Given the description of an element on the screen output the (x, y) to click on. 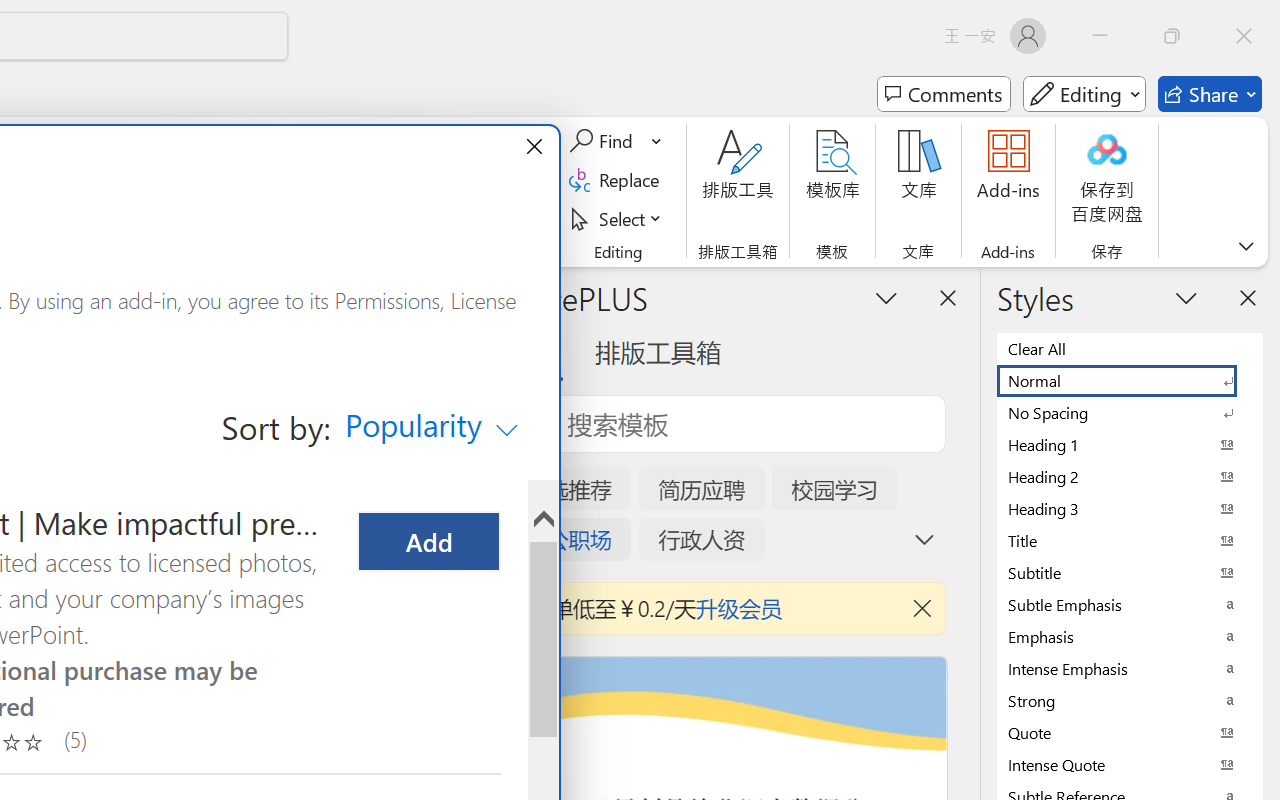
Heading 1 (1130, 444)
No Spacing (1130, 412)
Class: NetUIImage (1116, 764)
More Options (657, 141)
Close (1244, 36)
Share (1210, 94)
Restore Down (1172, 36)
Intense Emphasis (1130, 668)
